Given the description of an element on the screen output the (x, y) to click on. 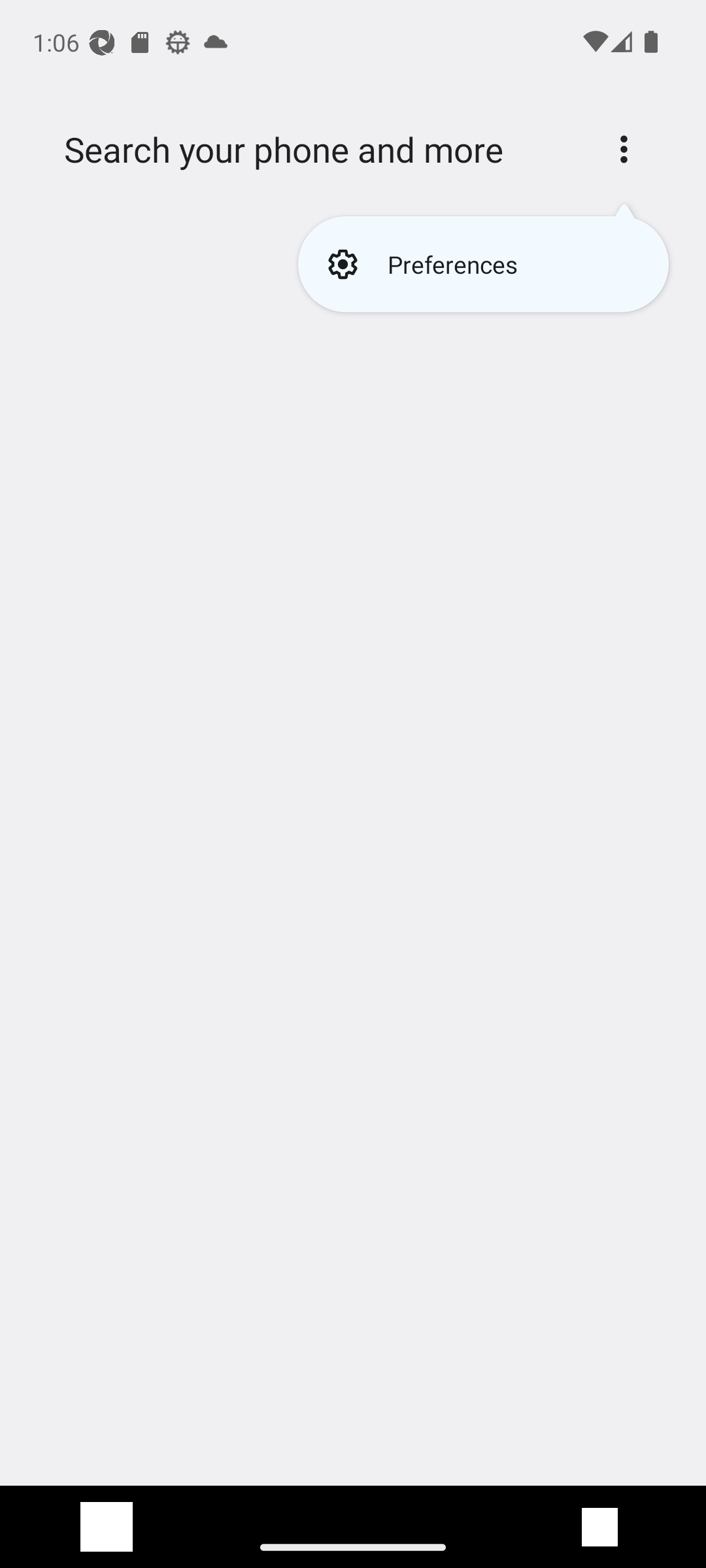
Preferences (482, 264)
